Given the description of an element on the screen output the (x, y) to click on. 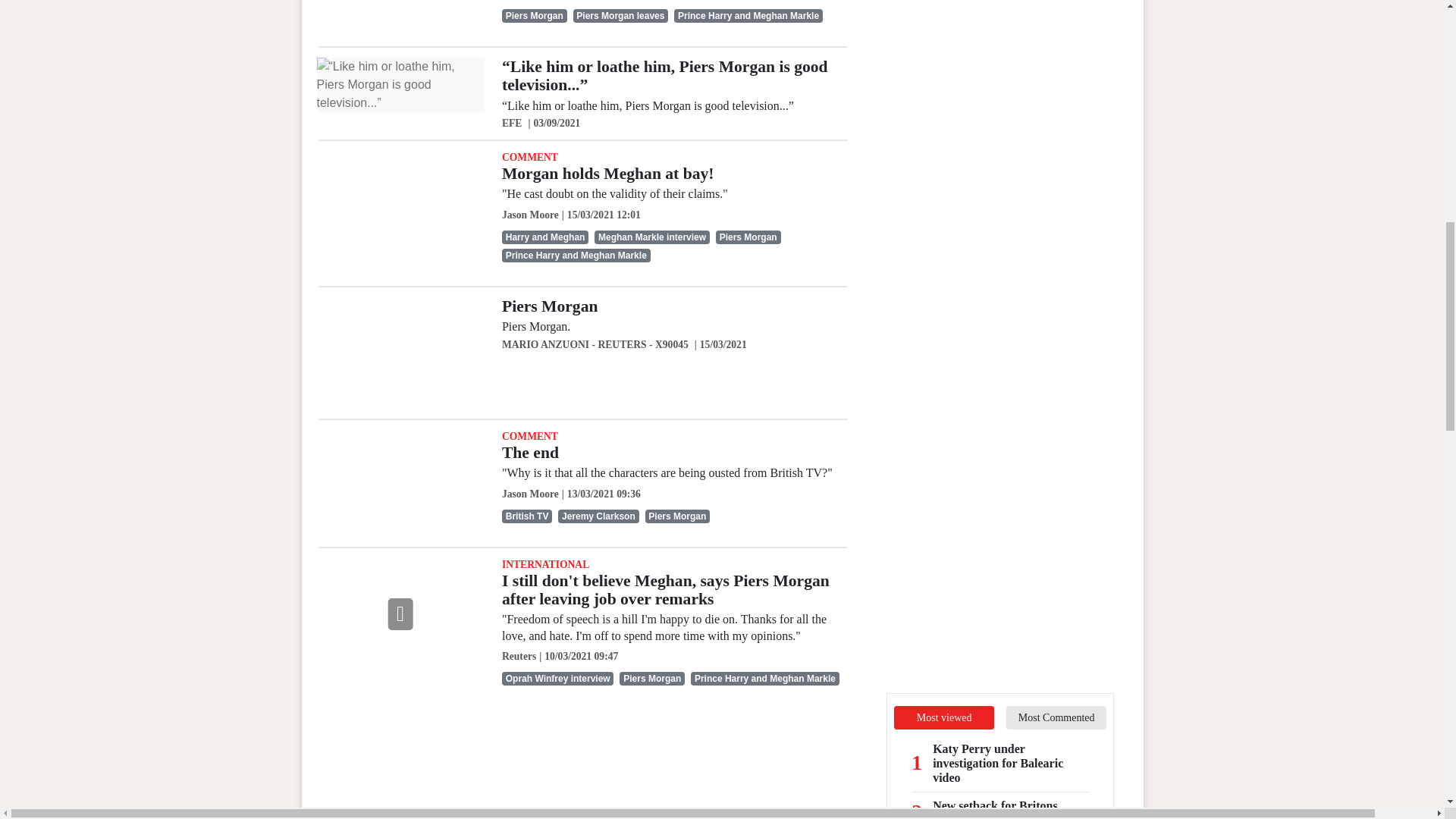
New setback for Britons flying to Spain (1011, 808)
Katy Perry under investigation for Balearic video (1011, 763)
The end (530, 452)
British TVJeremy ClarksonPiers Morgan (676, 515)
Morgan holds Meghan at bay! (608, 173)
